Given the description of an element on the screen output the (x, y) to click on. 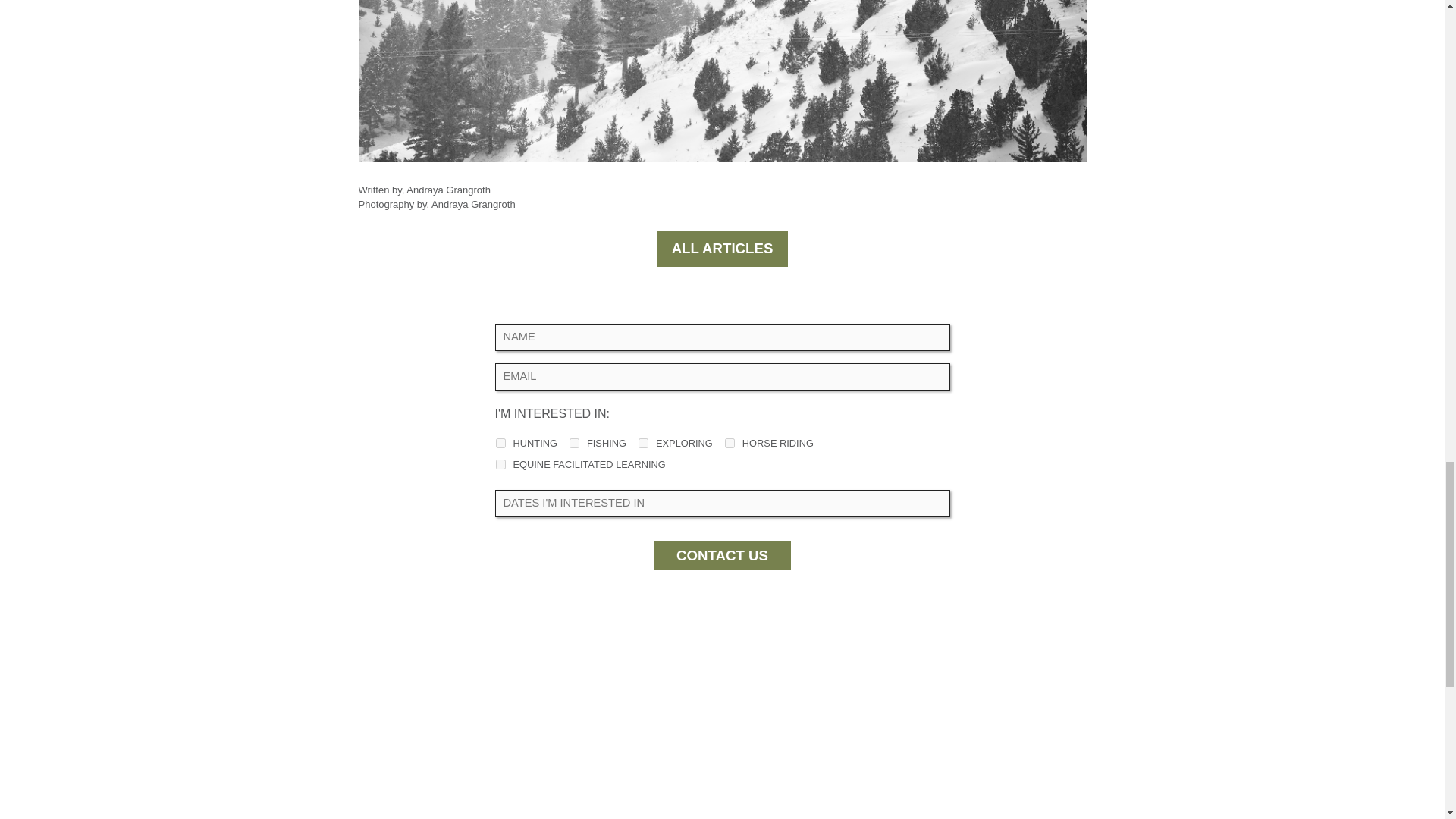
Fishing (574, 442)
Contact Us (721, 555)
ALL ARTICLES (722, 248)
Exploring (643, 442)
Horse Riding (730, 442)
Contact Us (721, 555)
Equine Facilitated Learning (500, 464)
Hunting (500, 442)
